Given the description of an element on the screen output the (x, y) to click on. 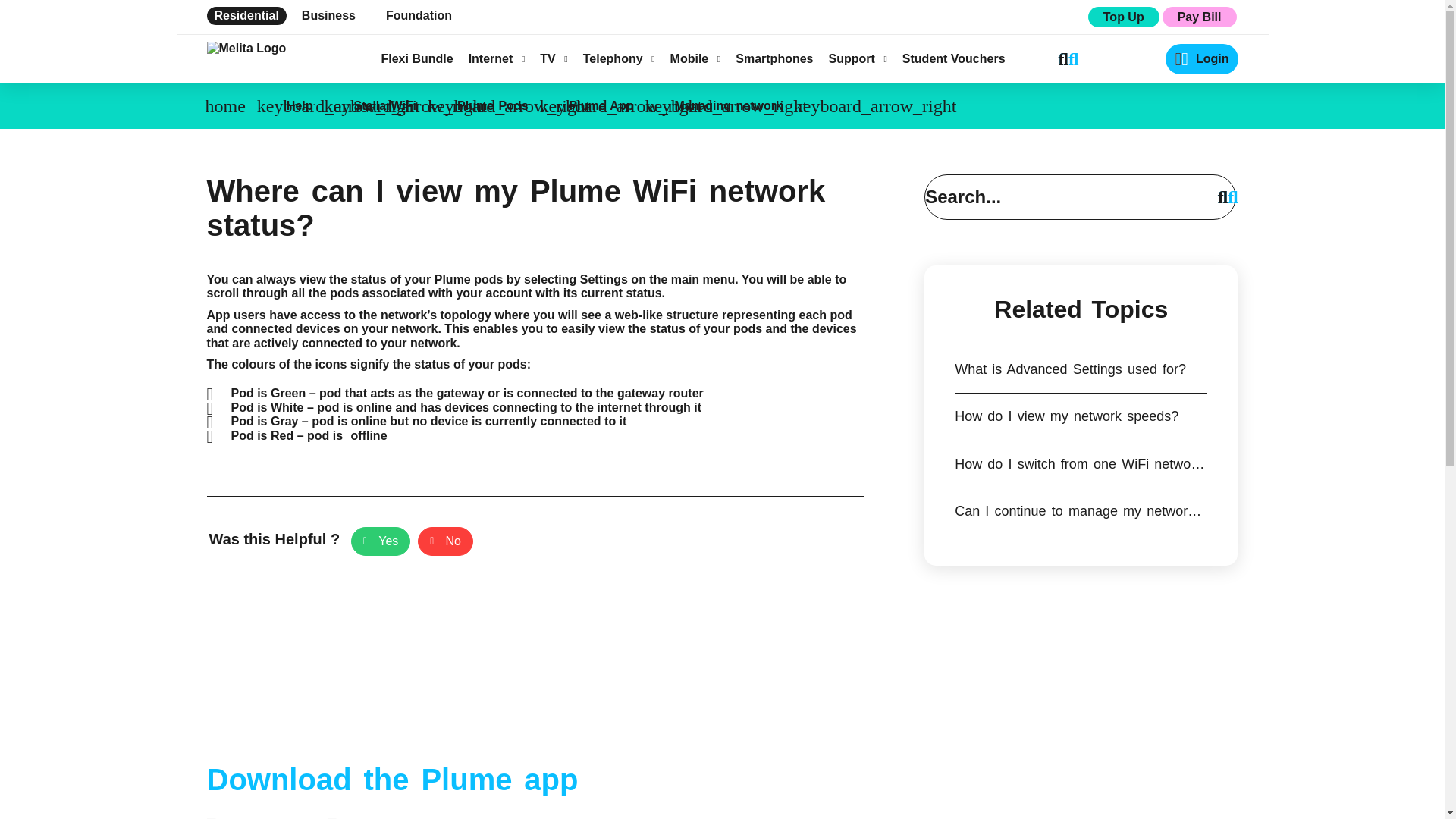
TV (553, 59)
Business (328, 15)
Smartphones (773, 59)
Support (857, 59)
Pay Bill (1198, 16)
Internet (496, 59)
Foundation (418, 15)
Mobile (694, 59)
Residential (246, 15)
Telephony (619, 59)
